Given the description of an element on the screen output the (x, y) to click on. 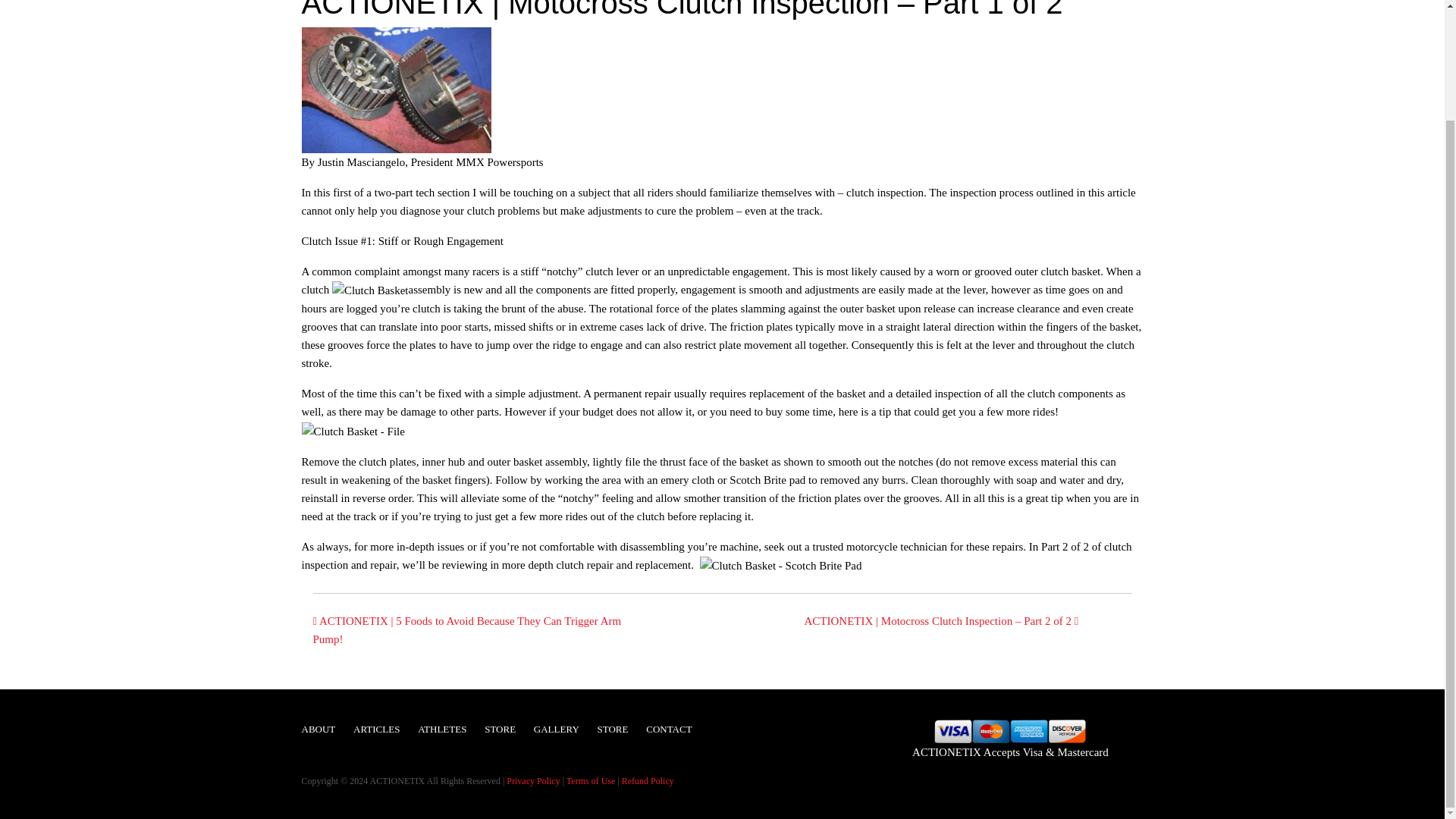
Refund Policy (647, 780)
STORE (612, 729)
GALLERY (556, 729)
ARTICLES (375, 729)
STORE (499, 729)
Terms of Use (590, 780)
ABOUT (318, 729)
CONTACT (668, 729)
ATHLETES (441, 729)
Privacy Policy (532, 780)
